Given the description of an element on the screen output the (x, y) to click on. 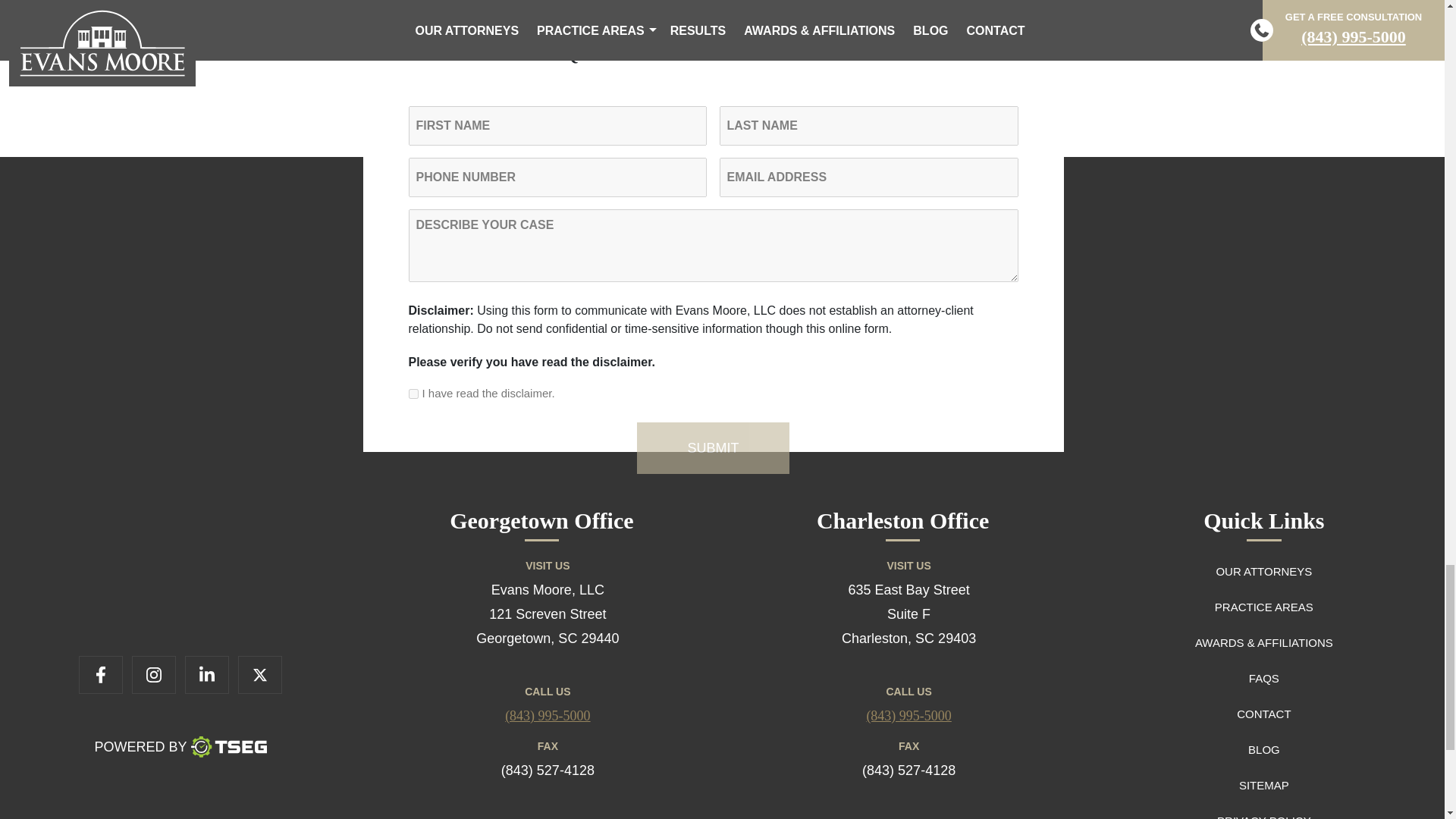
Submit (713, 448)
agreed (412, 393)
